Given the description of an element on the screen output the (x, y) to click on. 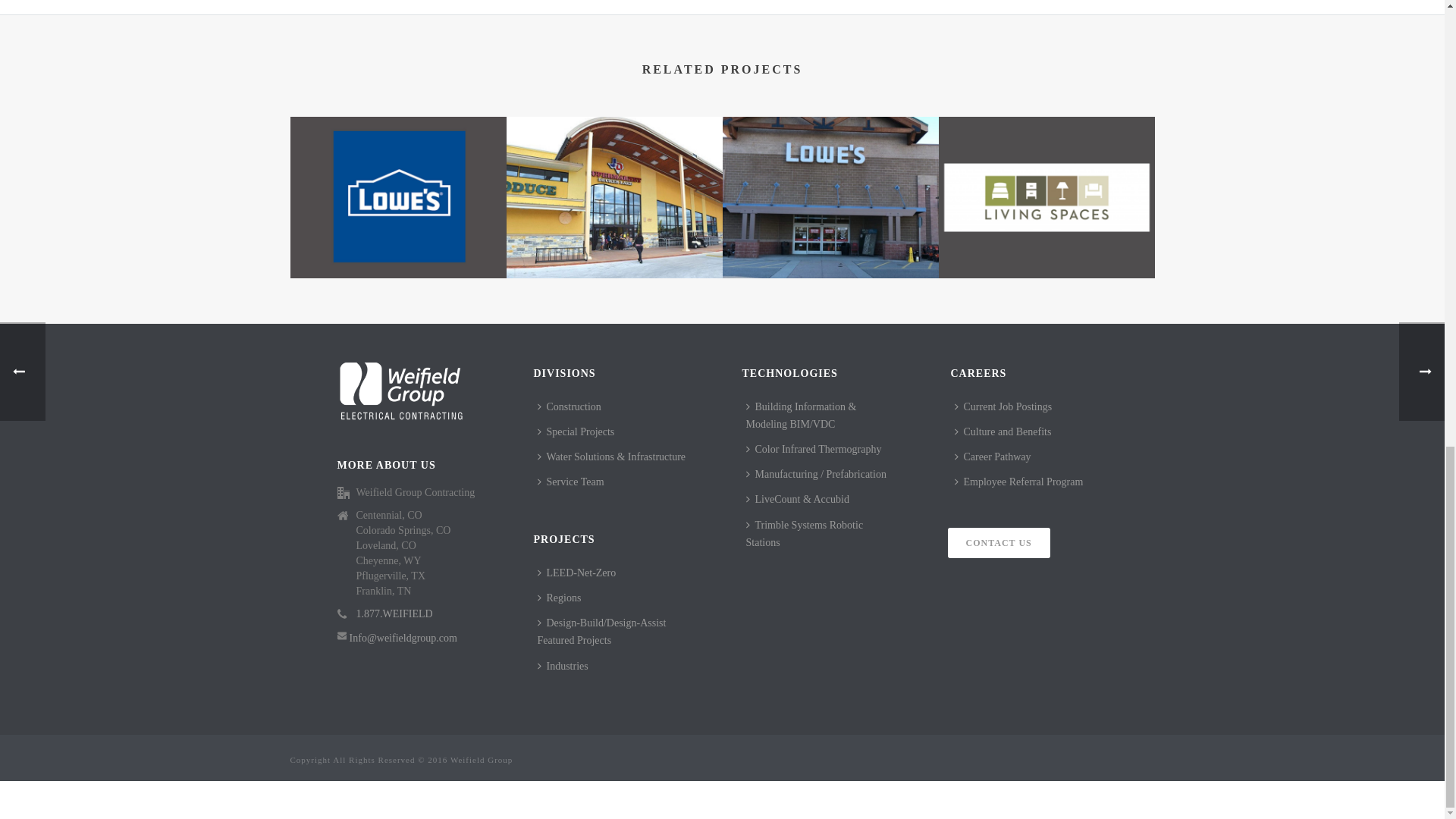
CONTACT US (998, 542)
JD FREEZER WAREHOUSE (614, 198)
LOWES HARDWARE GLENWOOD SPRINGS (829, 198)
